Given the description of an element on the screen output the (x, y) to click on. 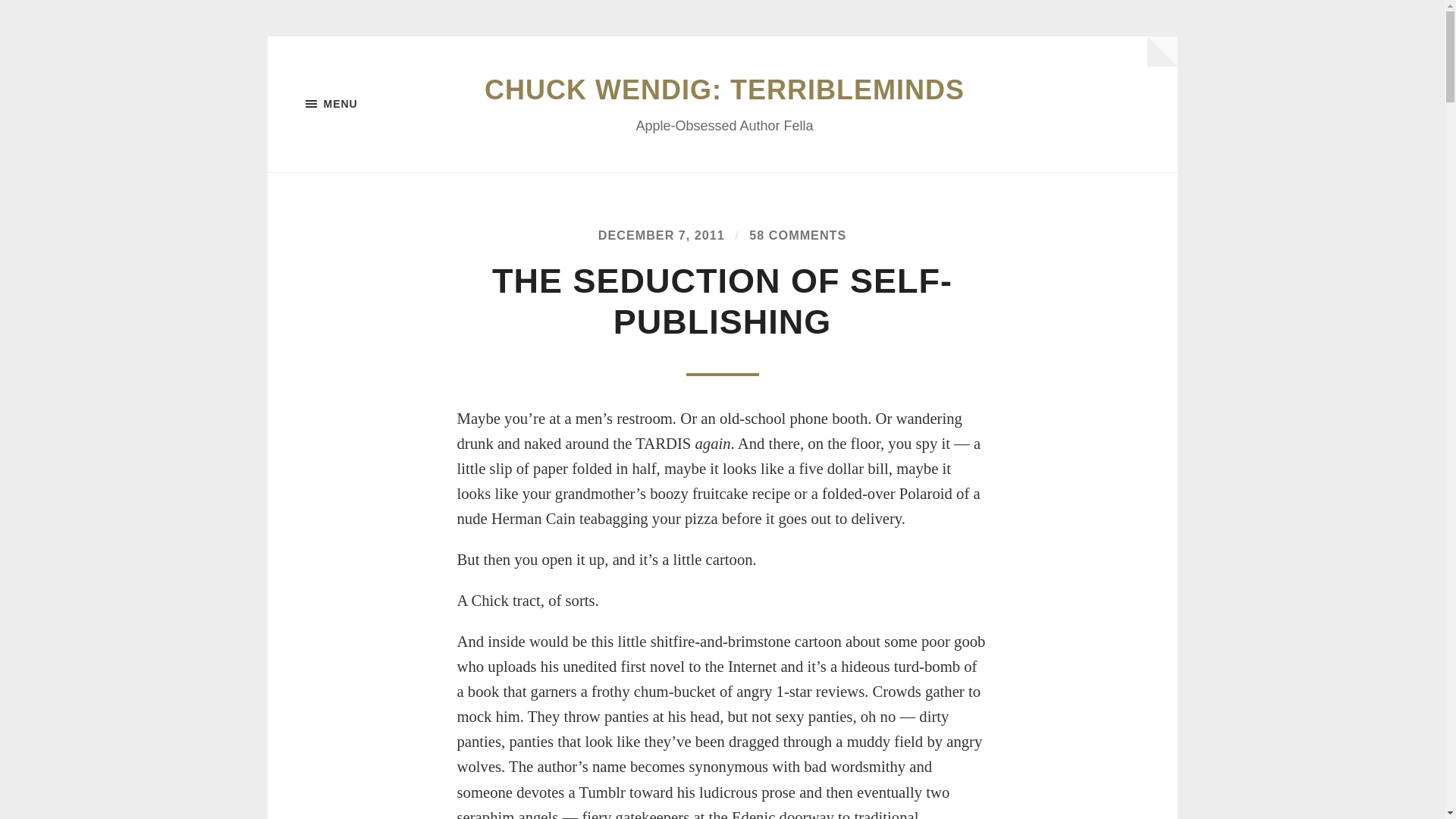
MENU (380, 103)
DECEMBER 7, 2011 (661, 234)
58 COMMENTS (797, 234)
CHUCK WENDIG: TERRIBLEMINDS (723, 89)
